Given the description of an element on the screen output the (x, y) to click on. 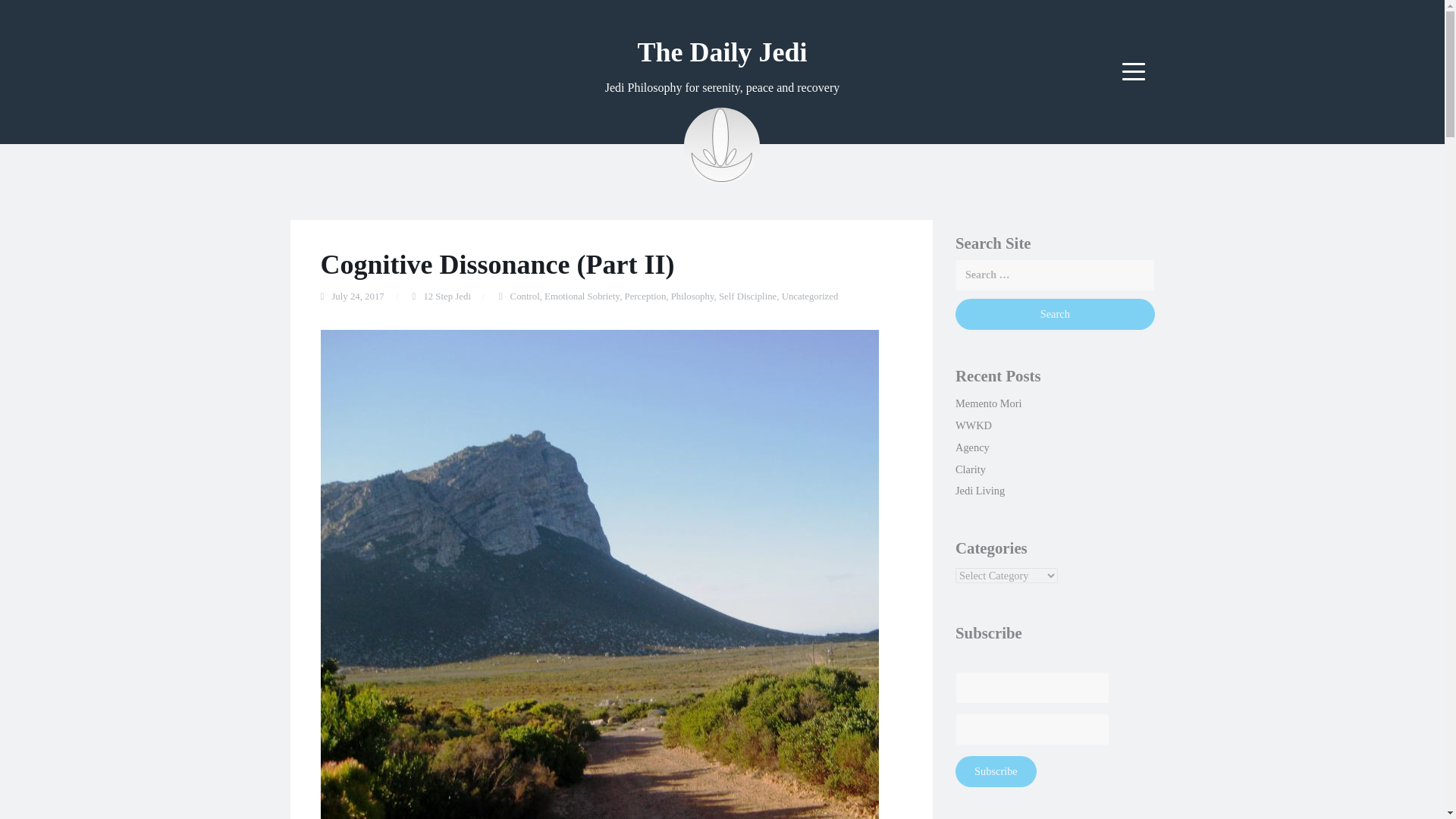
Control (525, 296)
12 Step Jedi (446, 296)
Self Discipline (747, 296)
Emotional Sobriety (582, 296)
Menu (1133, 71)
Philosophy (692, 296)
July 24, 2017 (357, 296)
Search (1054, 314)
Uncategorized (809, 296)
The Daily Jedi (721, 51)
Subscribe (995, 771)
Search (1054, 314)
Perception (645, 296)
